Given the description of an element on the screen output the (x, y) to click on. 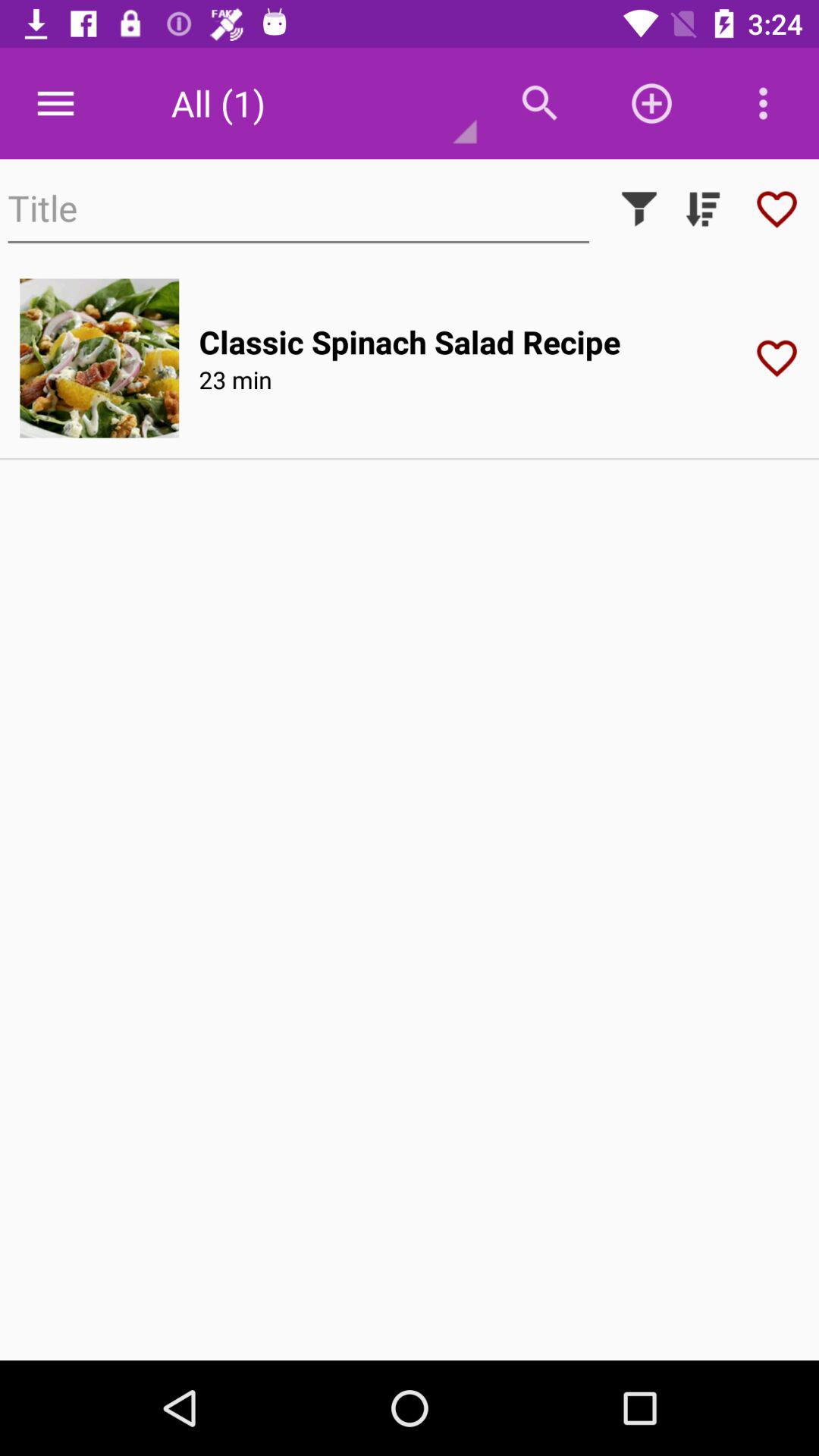
press icon to the right of all (1) (540, 103)
